Given the description of an element on the screen output the (x, y) to click on. 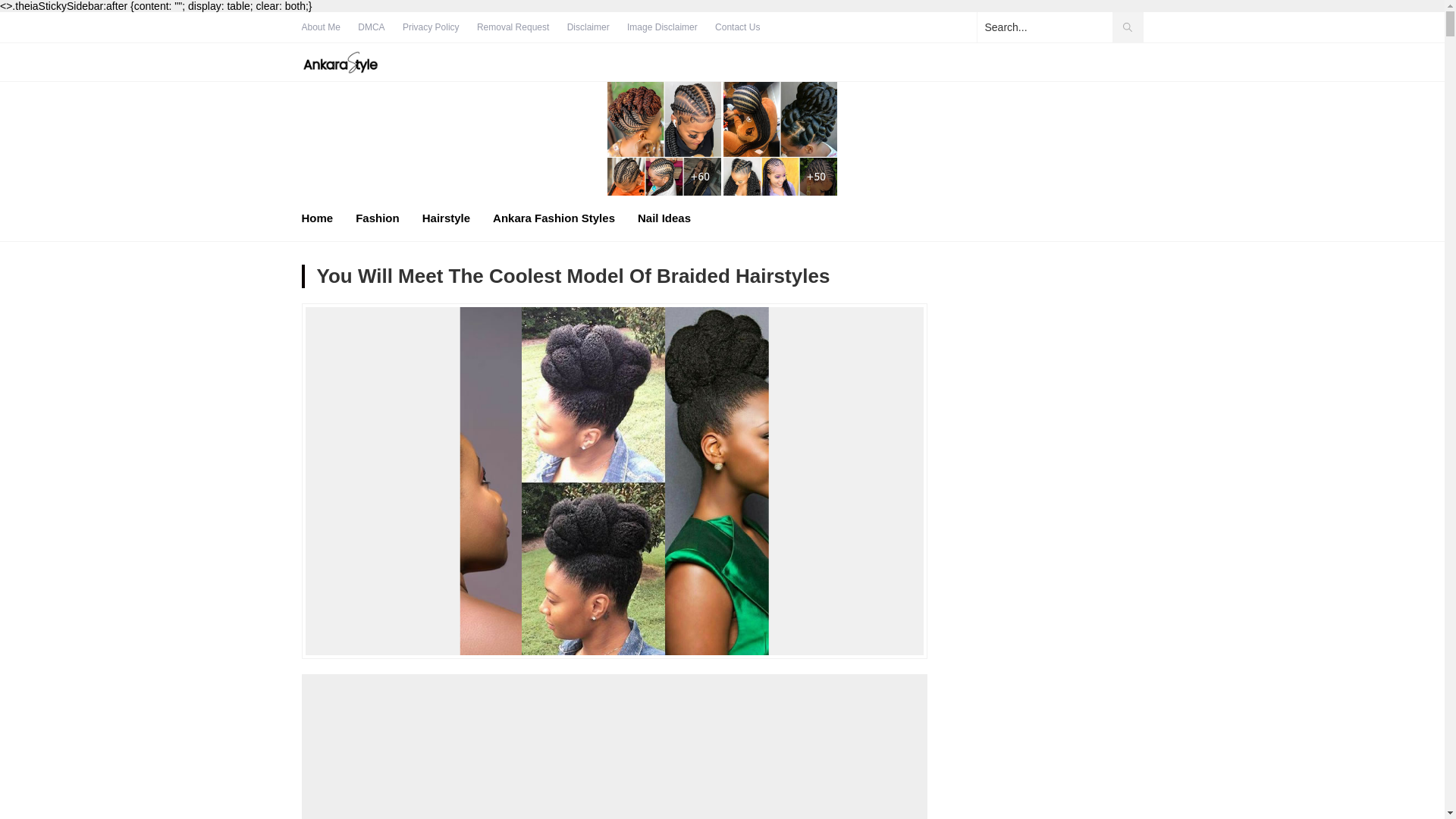
Fashion ideas (339, 61)
Search... (1058, 27)
Contact Us (737, 27)
About Me (320, 27)
Fashion (376, 217)
DMCA (371, 27)
Removal Request (512, 27)
Ankara Fashion Styles (553, 217)
Disclaimer (588, 27)
Image Disclaimer (662, 27)
Nail Ideas (663, 217)
Advertisement (613, 761)
Privacy Policy (431, 27)
Hairstyle (446, 217)
